Given the description of an element on the screen output the (x, y) to click on. 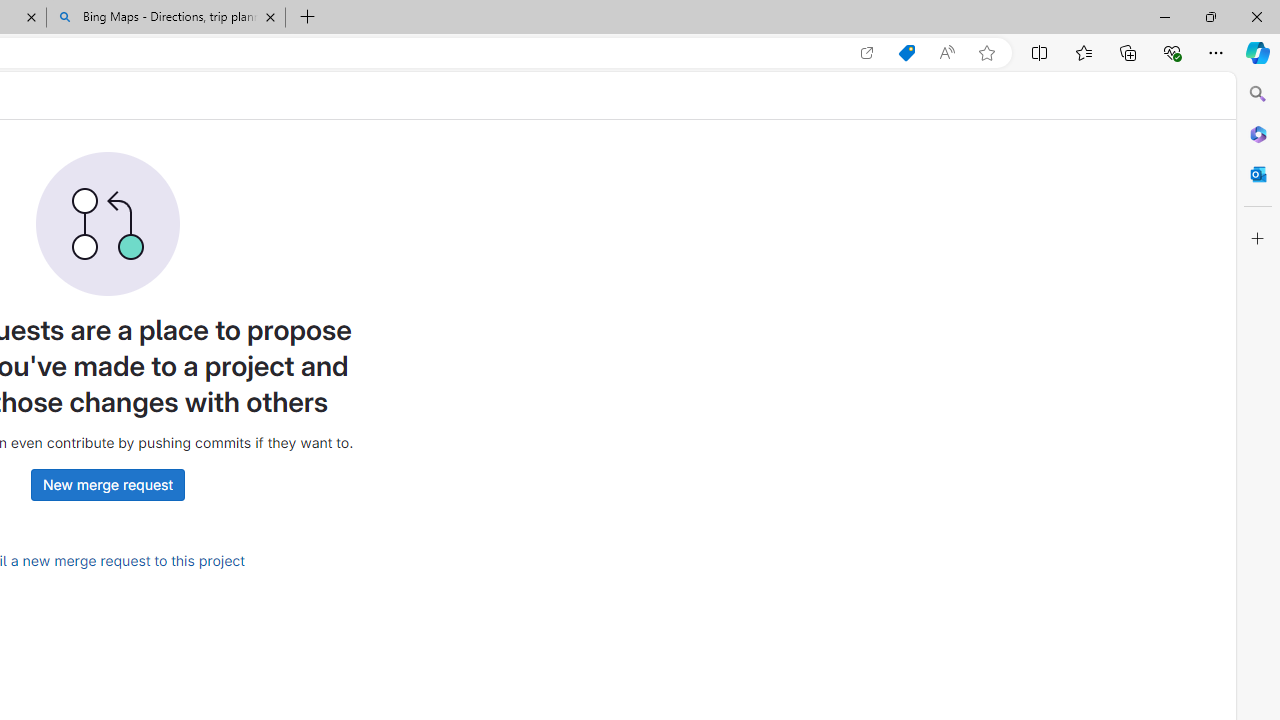
Outlook (1258, 174)
